Given the description of an element on the screen output the (x, y) to click on. 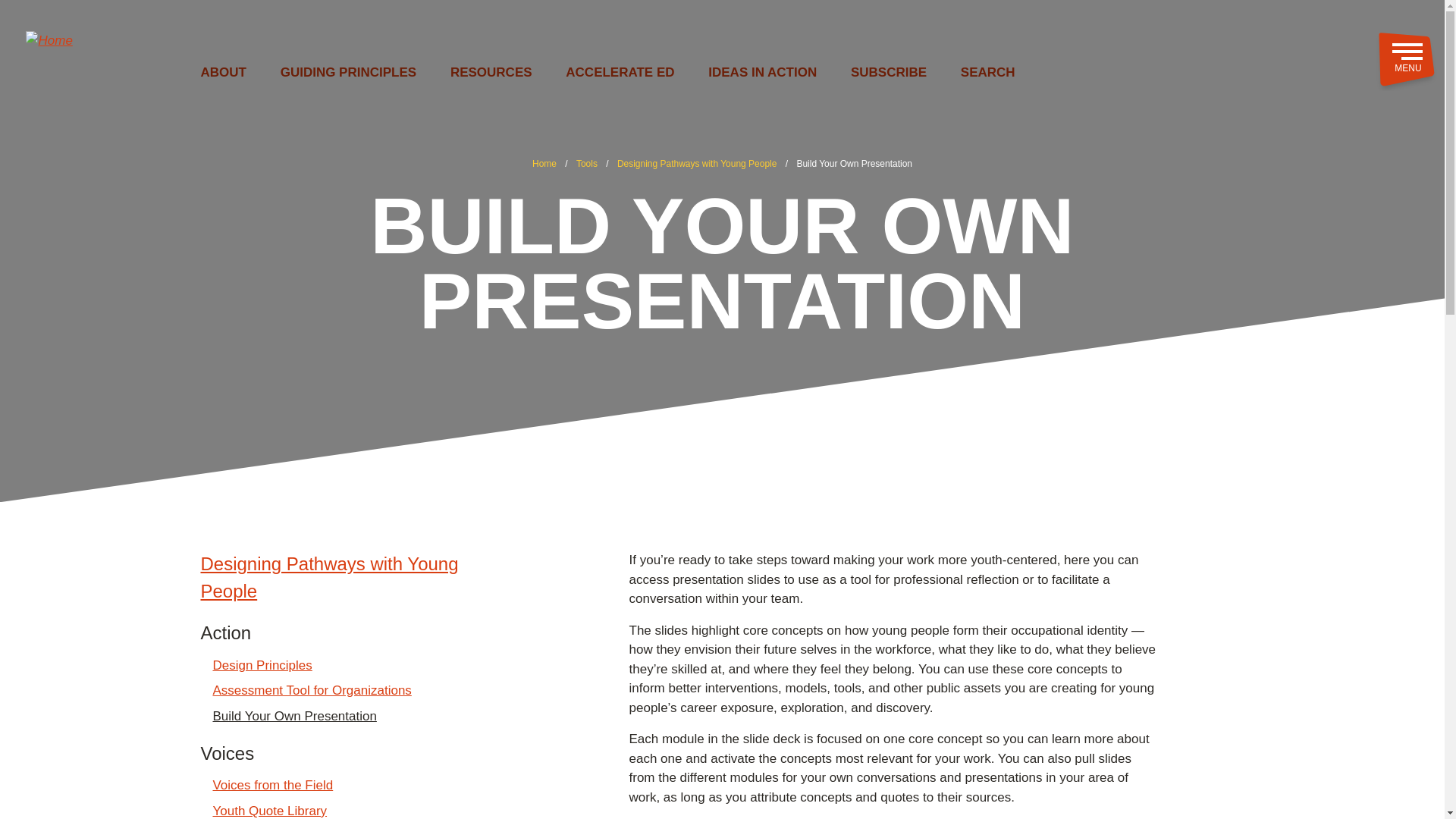
MENU (1406, 60)
SUBSCRIBE (888, 72)
Home (543, 163)
Voices from the Field (272, 785)
GUIDING PRINCIPLES (348, 72)
Designing Pathways with Young People (351, 577)
RESOURCES (490, 72)
ABOUT (223, 72)
SEARCH (987, 72)
Skip to main content (722, 6)
